Given the description of an element on the screen output the (x, y) to click on. 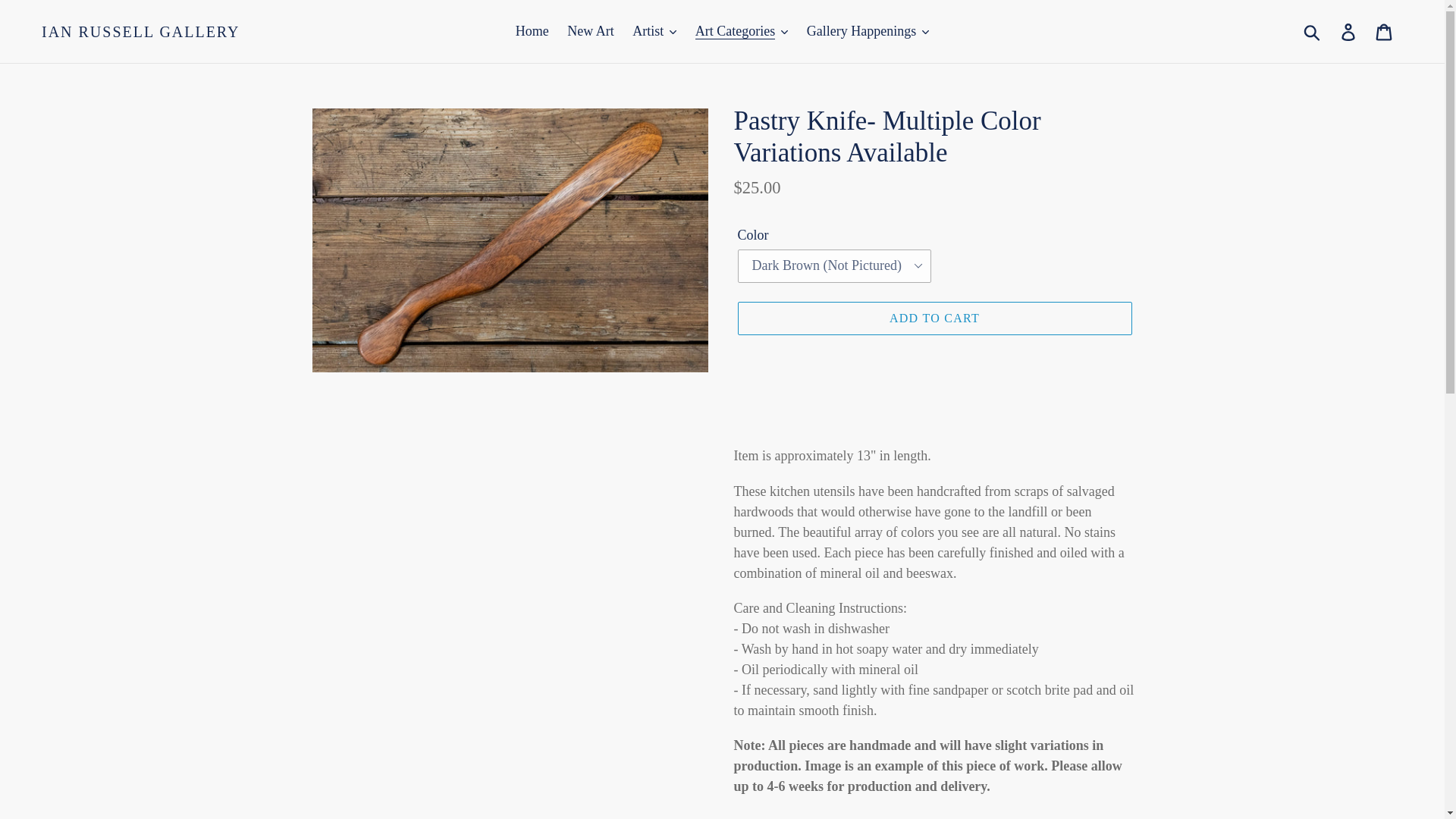
New Art (590, 31)
IAN RUSSELL GALLERY (141, 31)
Home (532, 31)
